Given the description of an element on the screen output the (x, y) to click on. 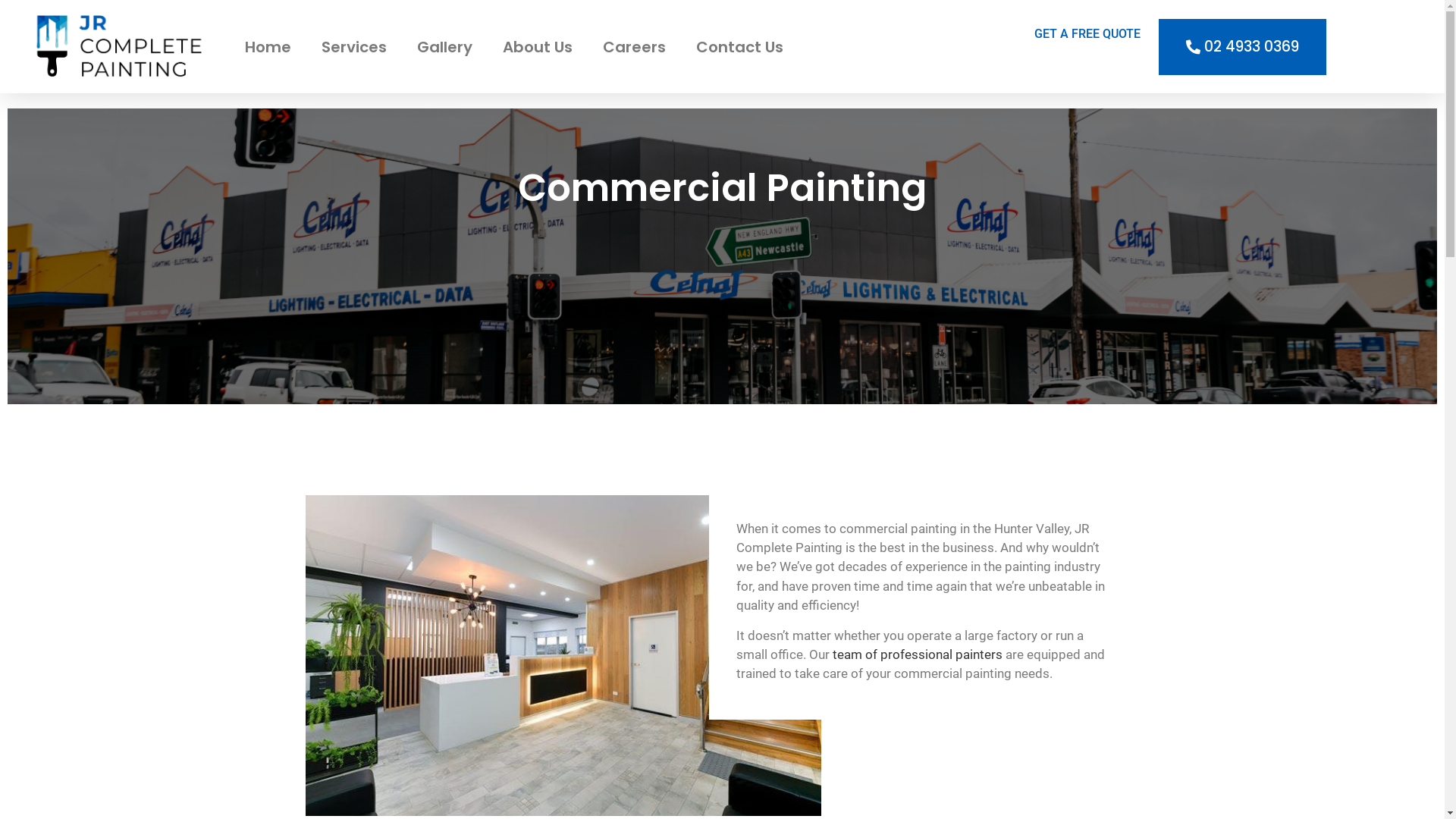
Gallery Element type: text (444, 45)
GET A FREE QUOTE Element type: text (1087, 33)
team of professional painters Element type: text (917, 654)
Services Element type: text (353, 45)
About Us Element type: text (537, 45)
Commercial Painting - Commercial Painting Element type: hover (562, 655)
Home Element type: text (267, 45)
02 4933 0369 Element type: text (1242, 46)
Careers Element type: text (633, 45)
Contact Us Element type: text (739, 45)
